Given the description of an element on the screen output the (x, y) to click on. 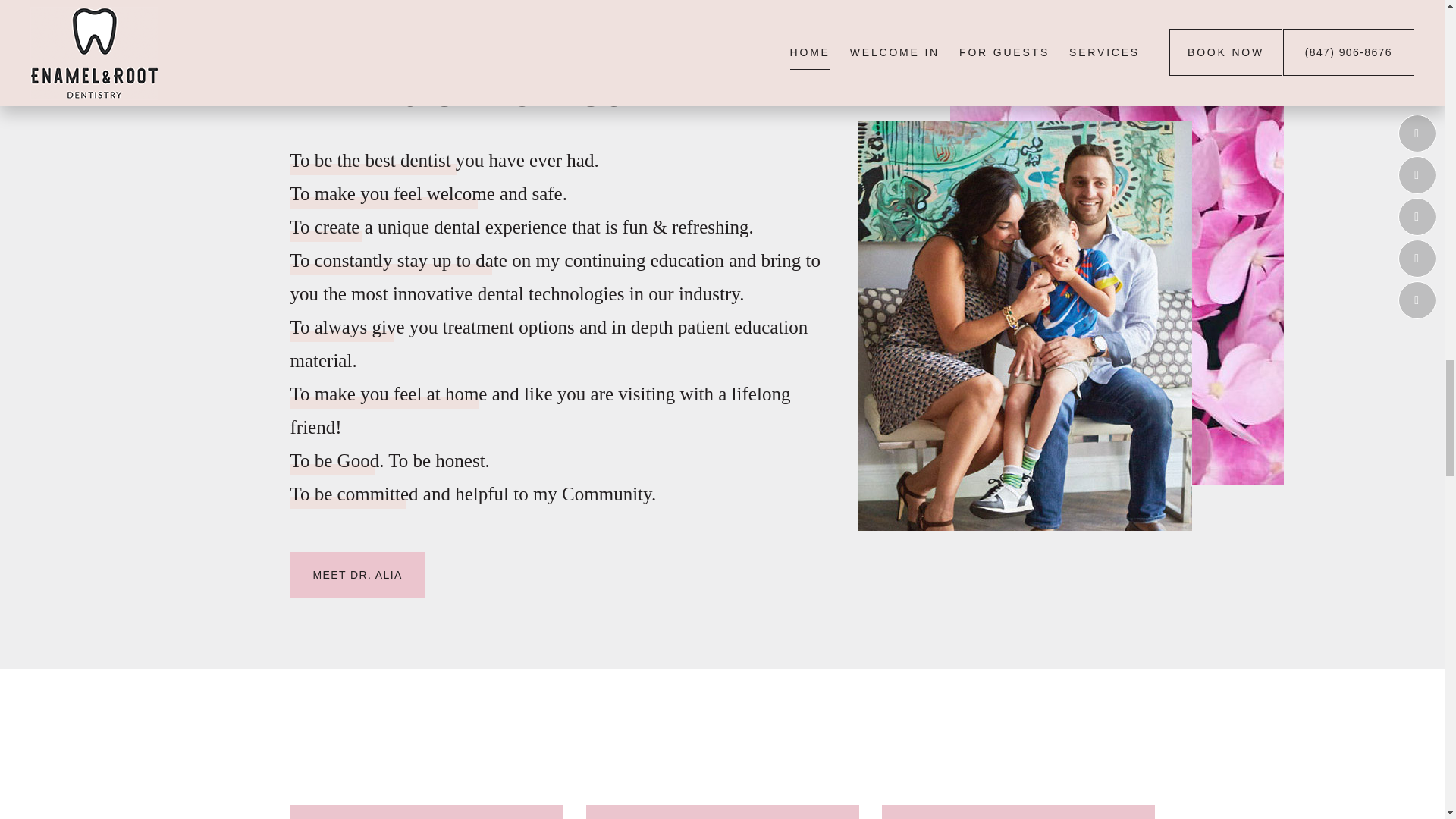
DR. ALIA'S VIDEO TIPS (1017, 770)
TOUR OUR SPA OFFICE (722, 770)
MEET DR. ALIA (357, 574)
WHY CHOOSE US (425, 770)
